Given the description of an element on the screen output the (x, y) to click on. 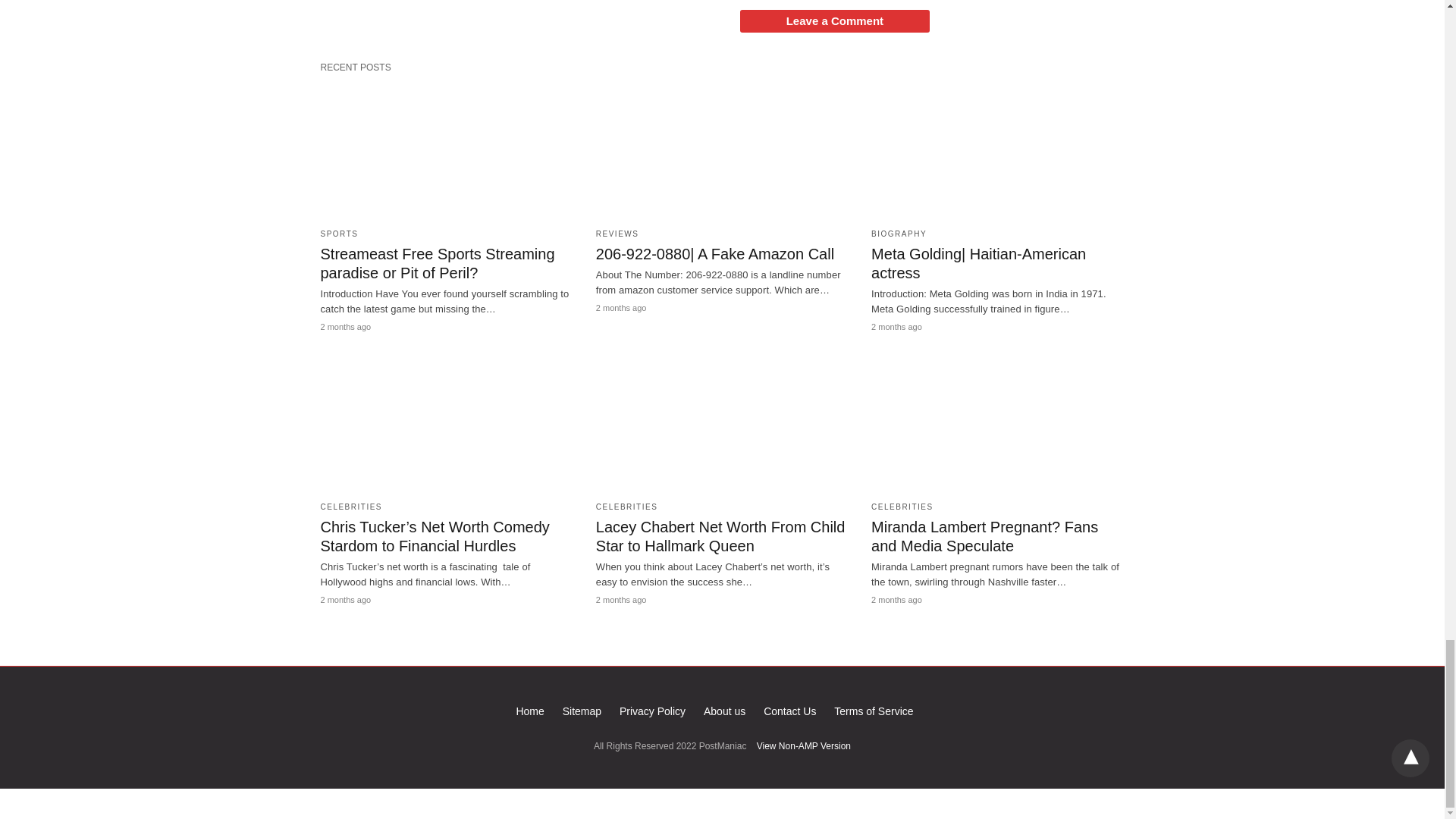
Leave a Comment (834, 20)
Leave a Comment (834, 20)
